Given the description of an element on the screen output the (x, y) to click on. 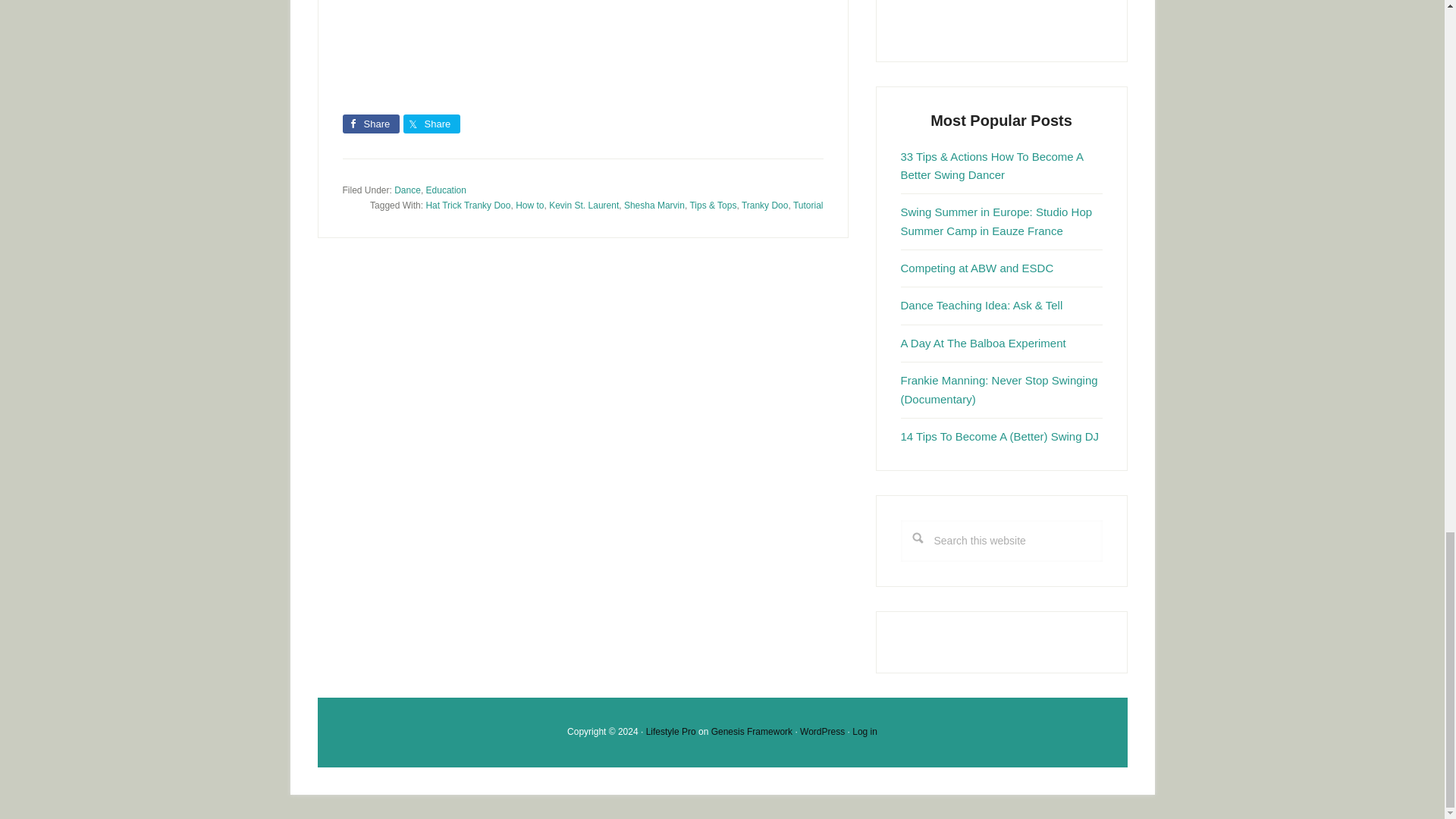
Dance (407, 190)
Shesha Marvin (654, 204)
Tips and Tops Hat Trick Tranky Doo Swing Brother Swing 2011 (562, 44)
Competing at ABW and ESDC (977, 267)
How to (529, 204)
Kevin St. Laurent (583, 204)
Share (431, 123)
A Day At The Balboa Experiment (983, 342)
Education (445, 190)
Tutorial (808, 204)
Tranky Doo (765, 204)
Share (370, 123)
Hat Trick Tranky Doo (468, 204)
